Given the description of an element on the screen output the (x, y) to click on. 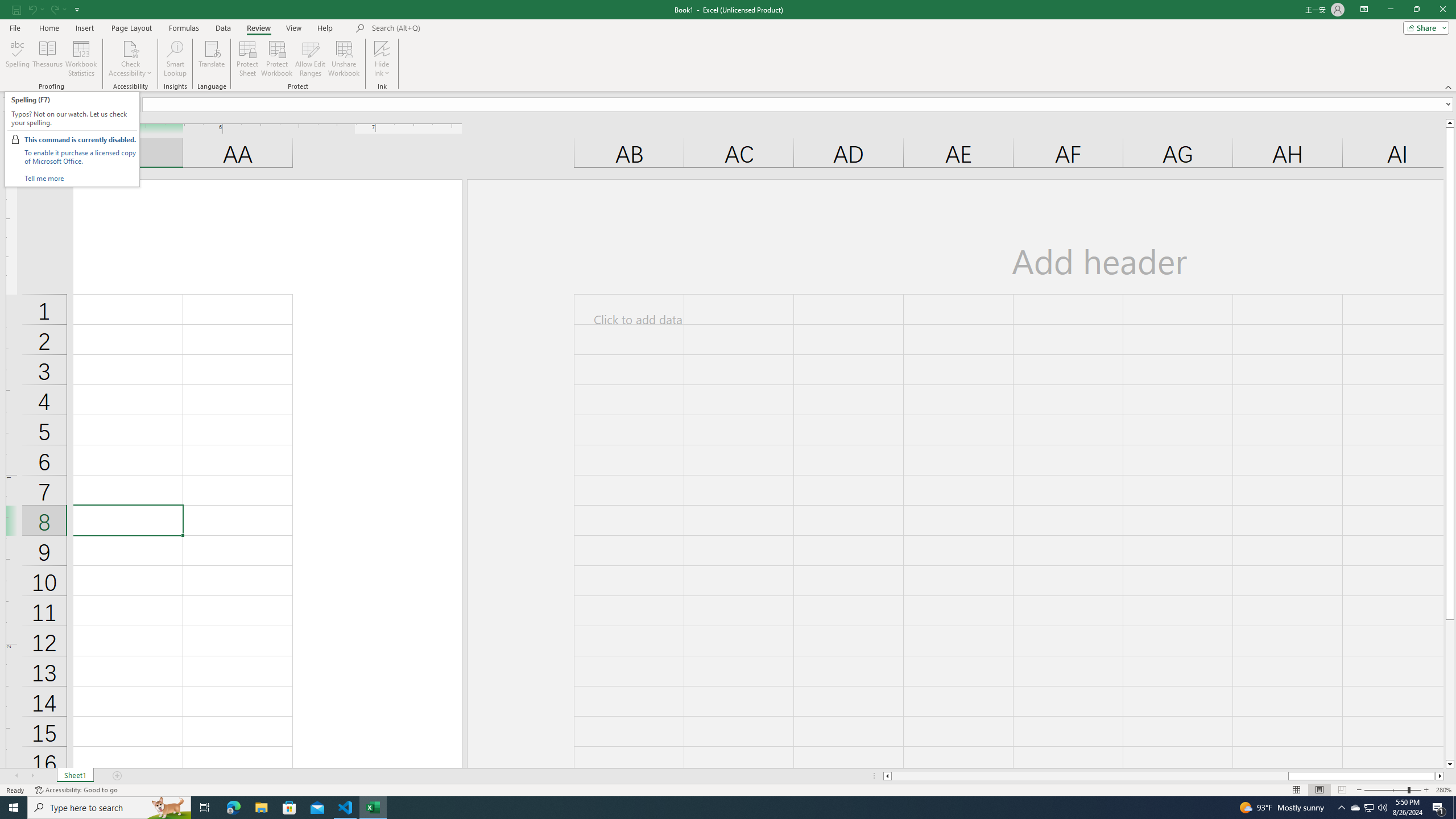
Protect Workbook... (277, 58)
